Given the description of an element on the screen output the (x, y) to click on. 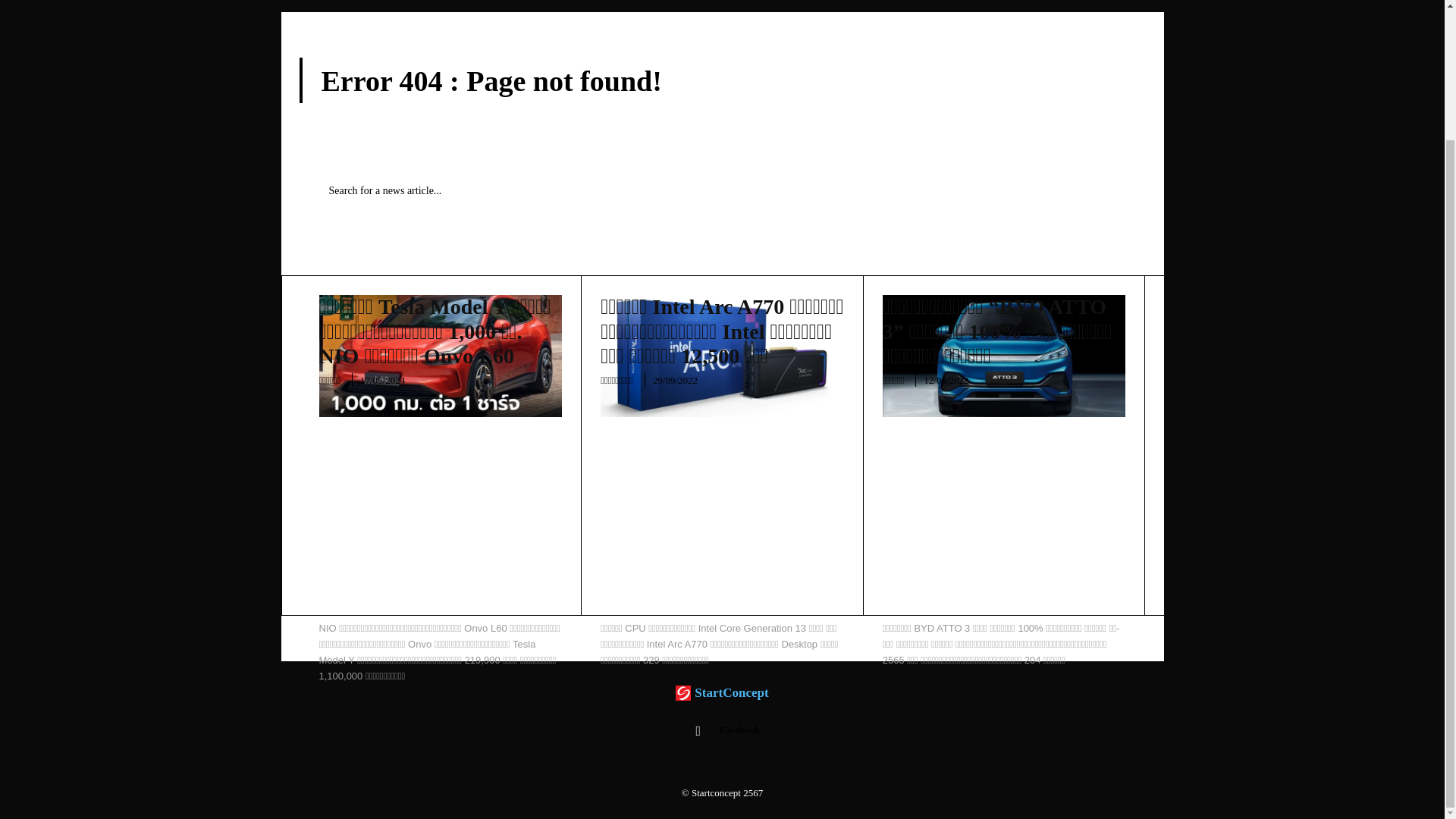
SEARCH (1092, 191)
Facebook (697, 730)
